Given the description of an element on the screen output the (x, y) to click on. 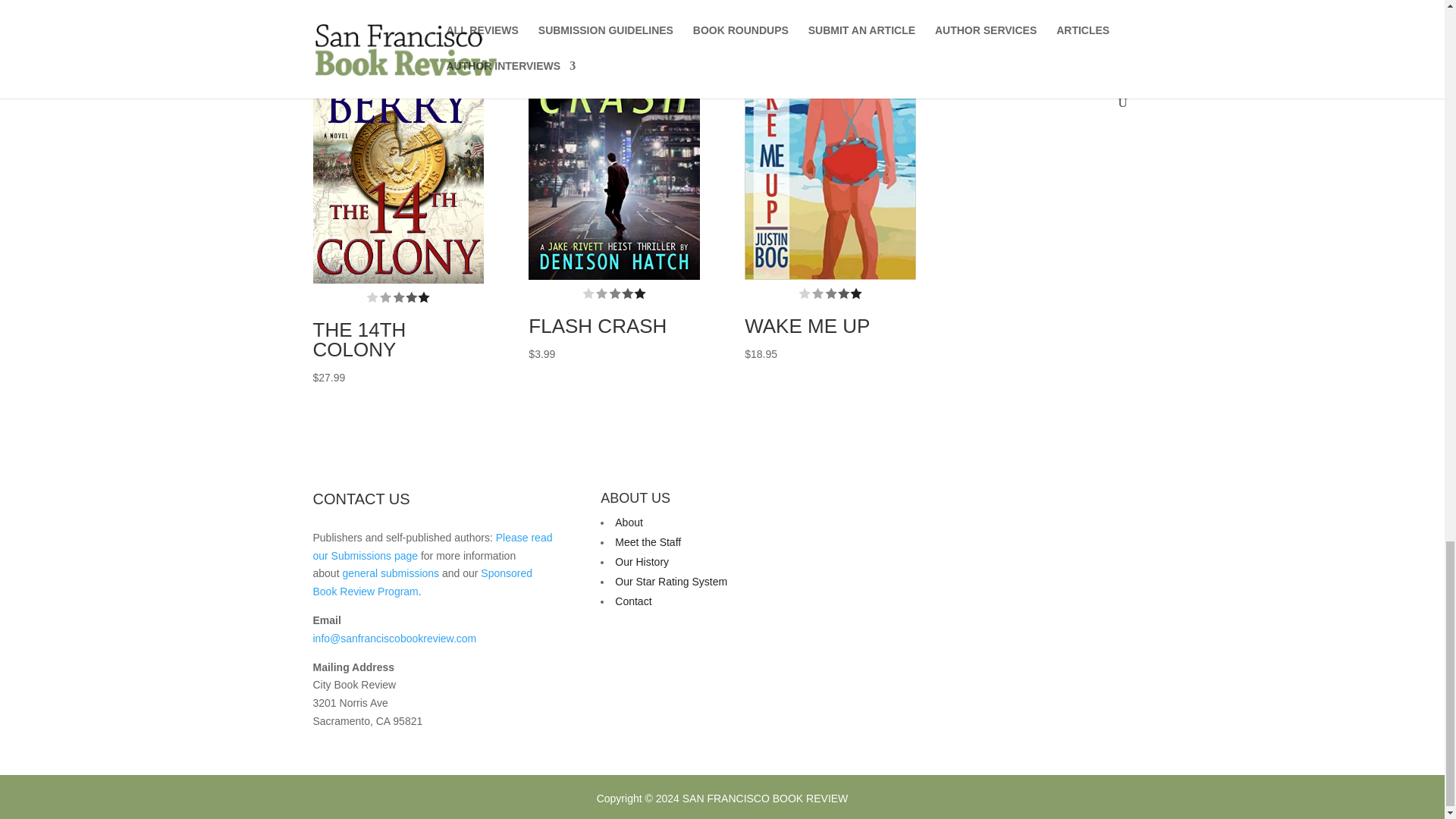
Sponsored Book Review Program (422, 582)
Please read our Submissions page (432, 546)
general submissions (390, 573)
